Given the description of an element on the screen output the (x, y) to click on. 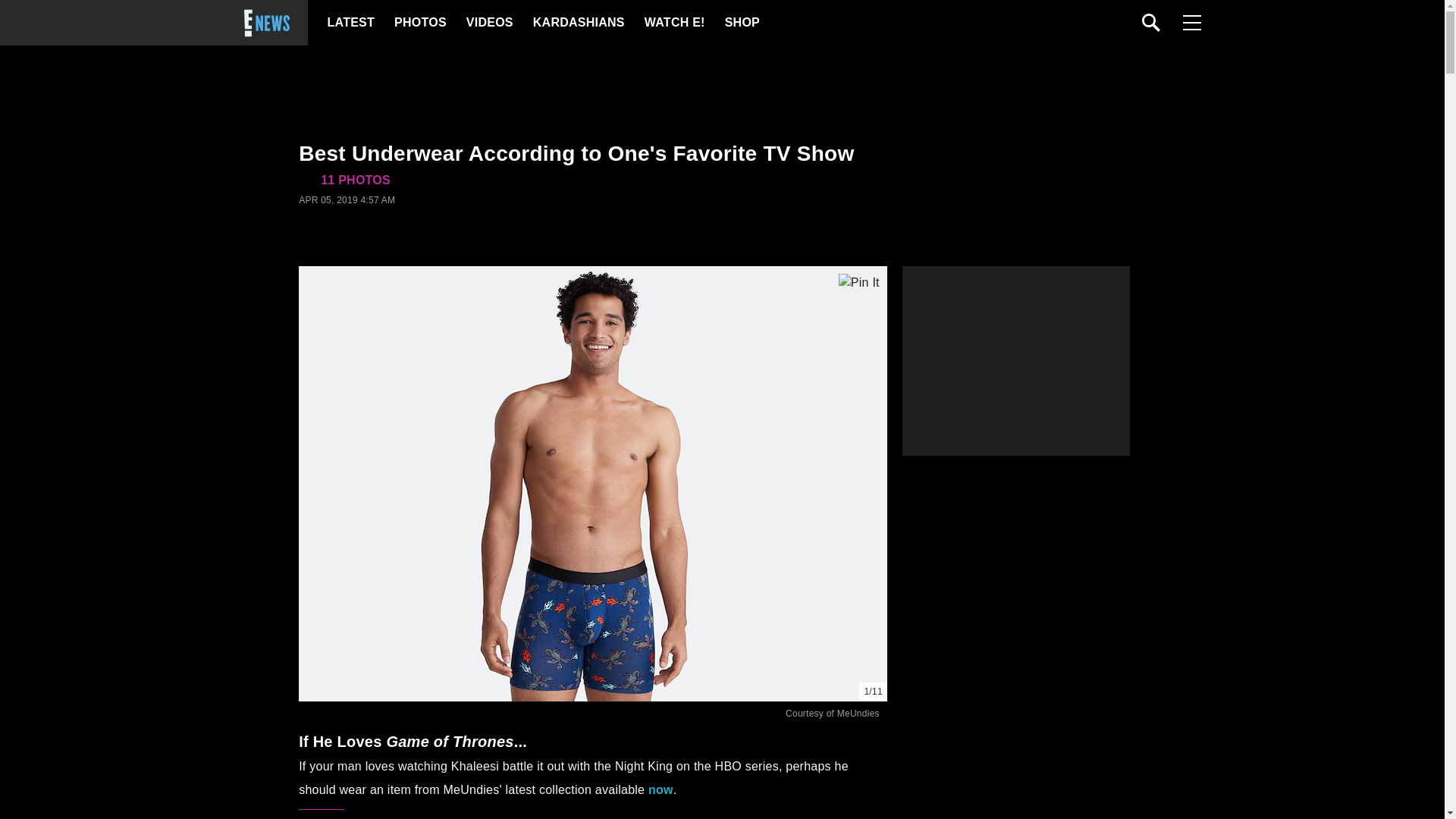
LATEST (350, 22)
WATCH E! (673, 22)
now (659, 789)
KARDASHIANS (577, 22)
VIDEOS (488, 22)
SHOP (741, 22)
PHOTOS (419, 22)
